Given the description of an element on the screen output the (x, y) to click on. 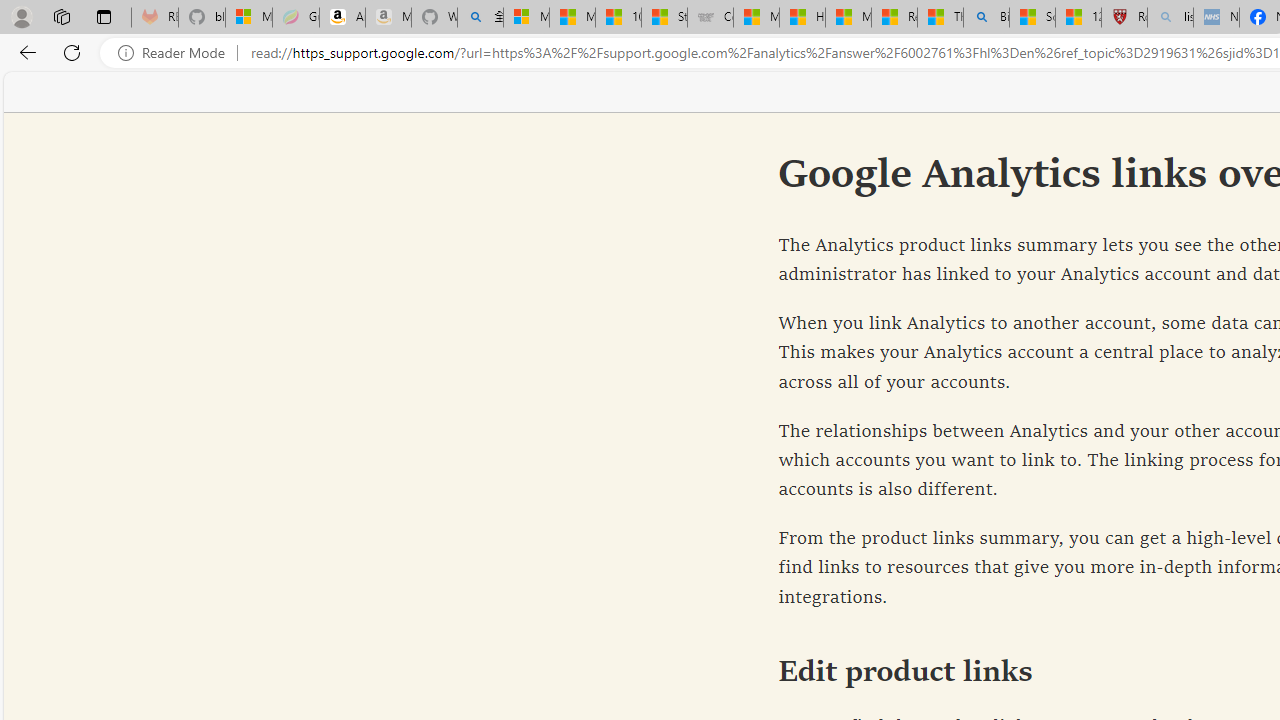
Combat Siege (710, 17)
How I Got Rid of Microsoft Edge's Unnecessary Features (802, 17)
